Given the description of an element on the screen output the (x, y) to click on. 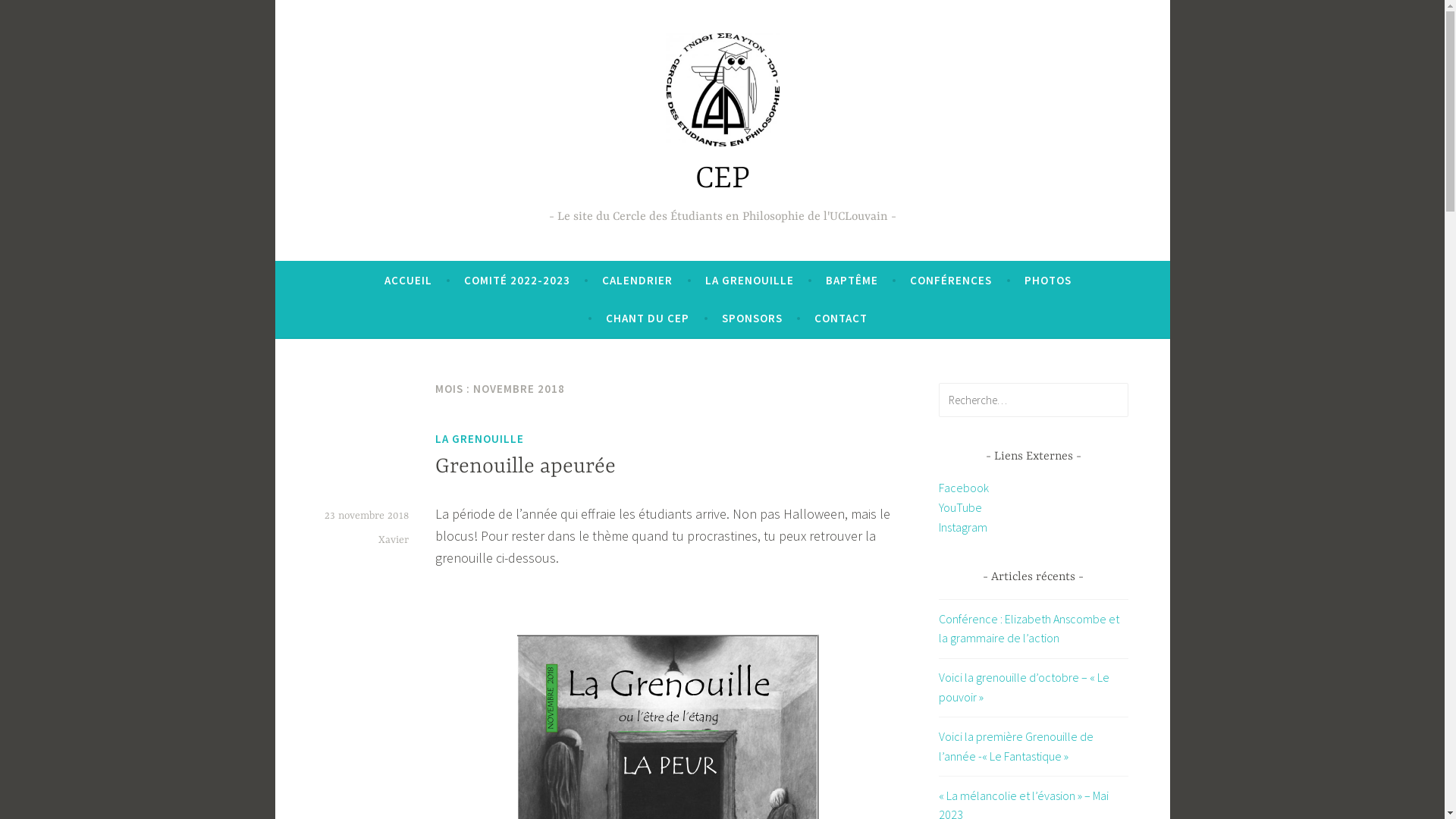
CALENDRIER Element type: text (637, 280)
YouTube Element type: text (960, 506)
23 novembre 2018 Element type: text (366, 515)
SPONSORS Element type: text (751, 318)
Xavier Element type: text (392, 539)
LA GRENOUILLE Element type: text (749, 280)
CHANT DU CEP Element type: text (647, 318)
Facebook Element type: text (963, 487)
CEP Element type: text (721, 179)
LA GRENOUILLE Element type: text (479, 438)
ACCUEIL Element type: text (408, 280)
CONTACT Element type: text (840, 318)
Rechercher Element type: text (48, 15)
Instagram Element type: text (962, 526)
PHOTOS Element type: text (1047, 280)
